Given the description of an element on the screen output the (x, y) to click on. 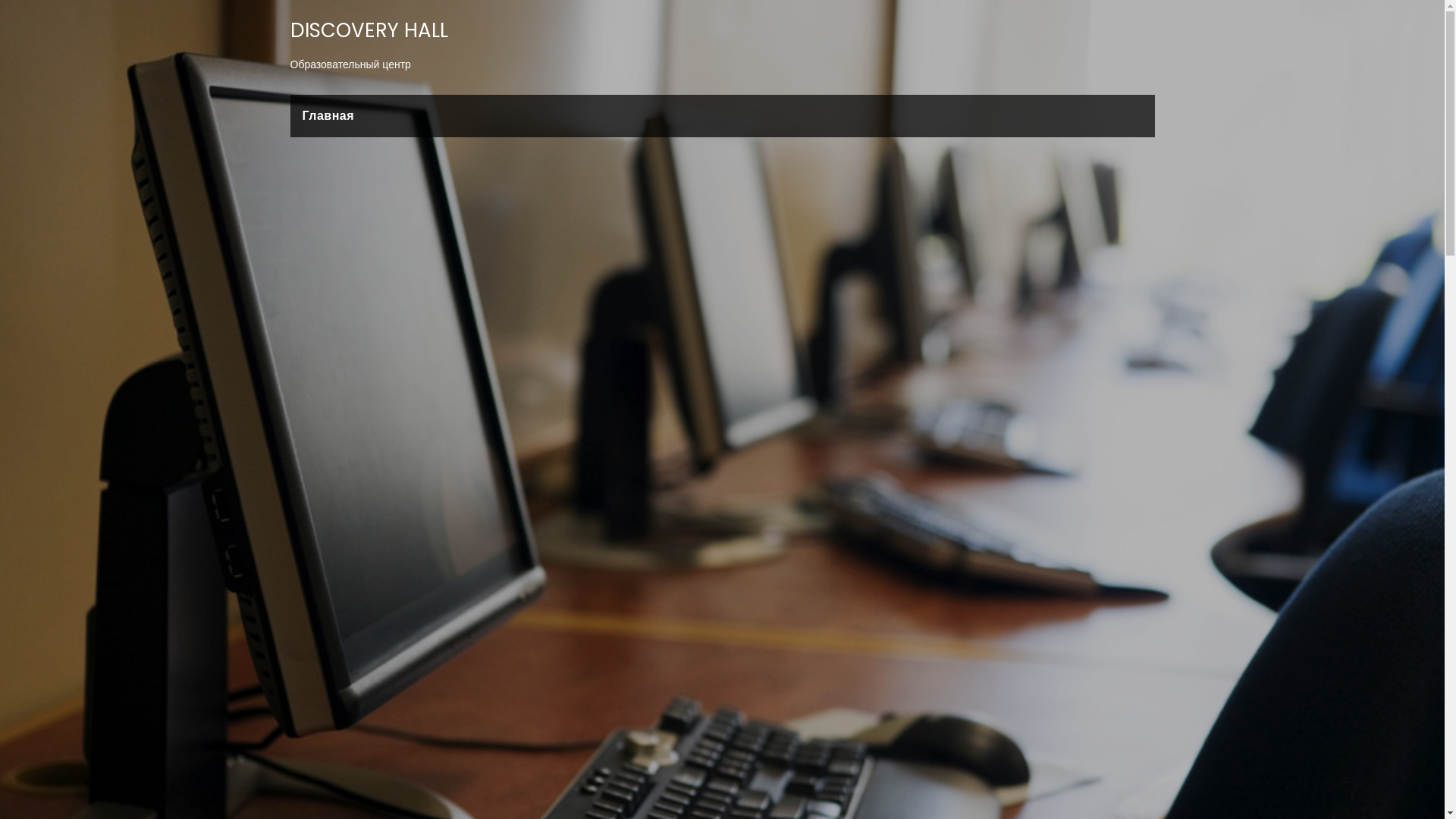
DISCOVERY HALL Element type: text (368, 29)
